Given the description of an element on the screen output the (x, y) to click on. 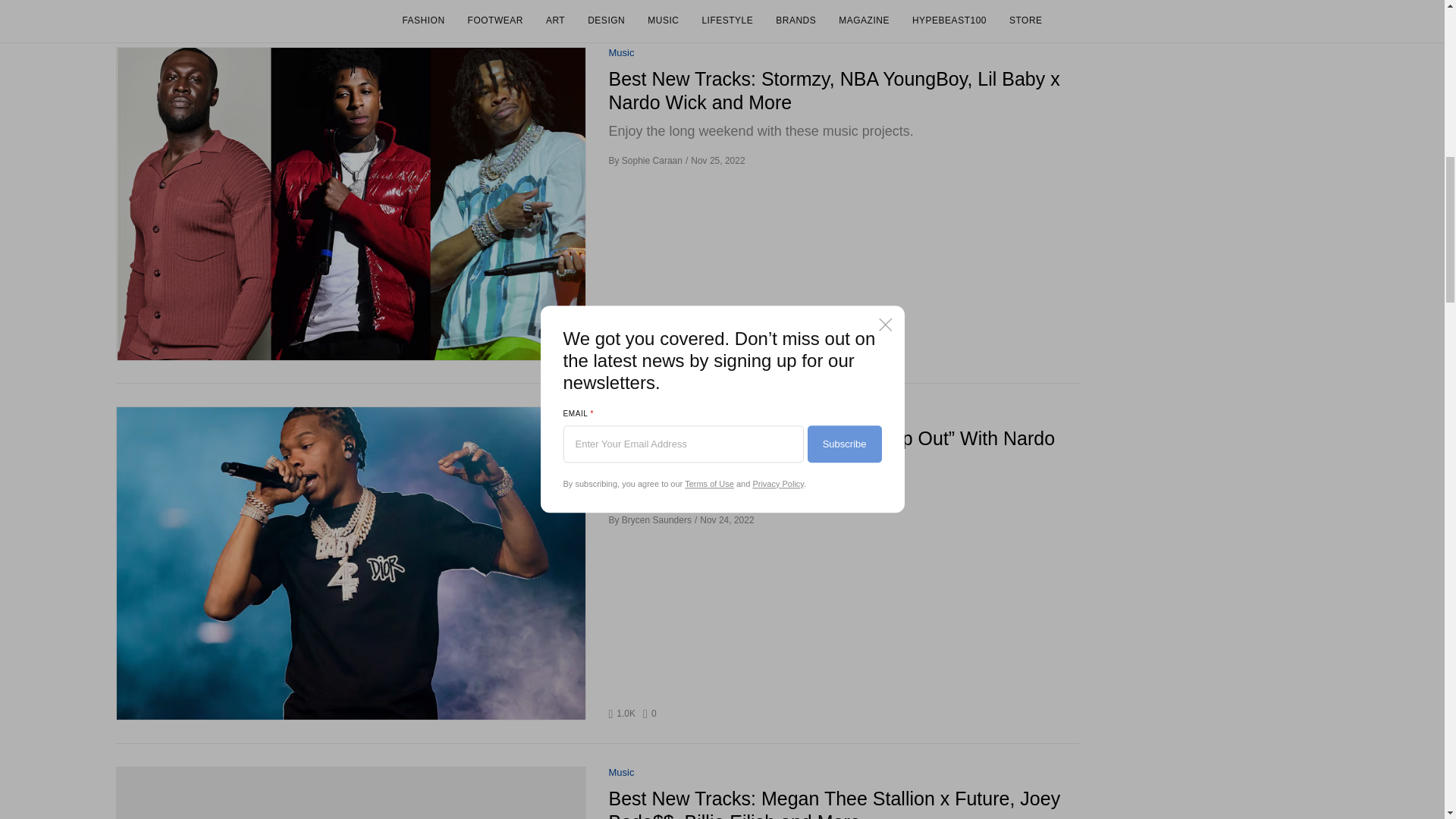
Music (620, 772)
Music (620, 412)
Music (620, 772)
Music (651, 354)
Music (620, 52)
Sophie Caraan (620, 52)
Brycen Saunders (651, 714)
Music (651, 160)
